Given the description of an element on the screen output the (x, y) to click on. 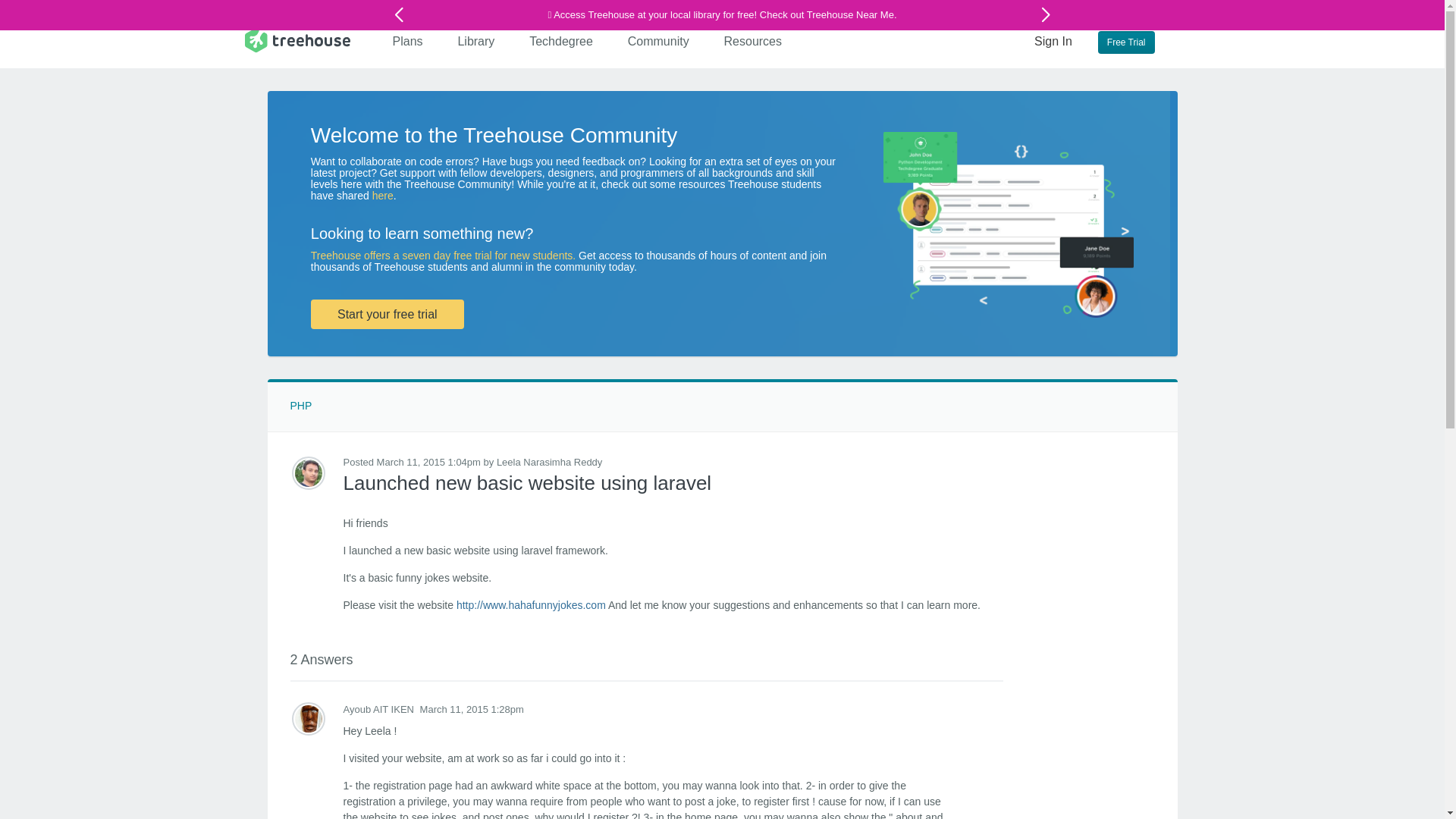
Treehouse Near Me (849, 14)
Library (475, 41)
Treehouse Logo (296, 39)
Treehouse Logo (296, 39)
Plans (408, 41)
